Given the description of an element on the screen output the (x, y) to click on. 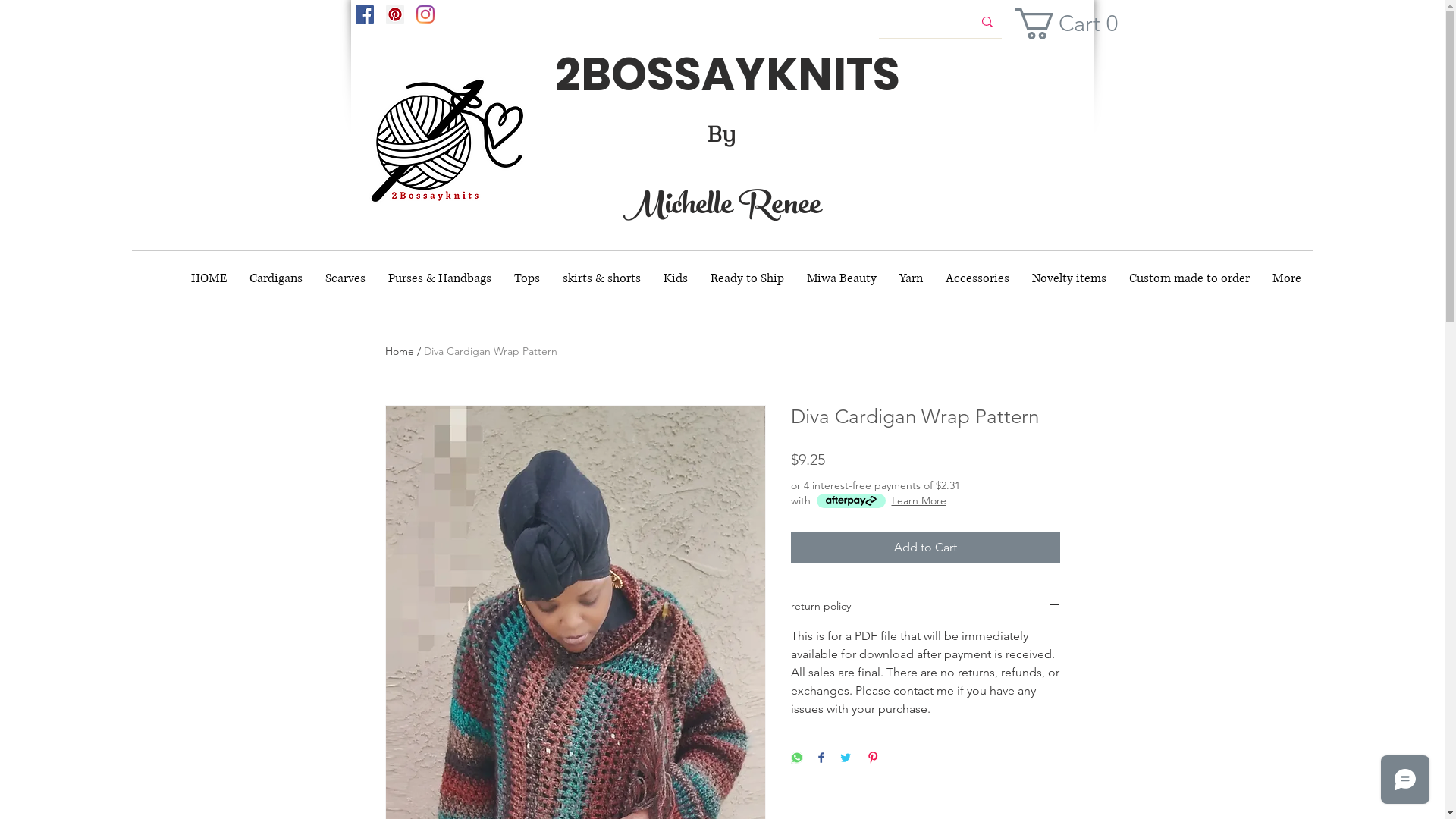
Accessories Element type: text (977, 278)
Scarves Element type: text (344, 278)
Home Element type: text (399, 350)
Novelty items Element type: text (1068, 278)
Ready to Ship Element type: text (747, 278)
Custom made to order Element type: text (1189, 278)
Learn More Element type: text (918, 500)
Tops Element type: text (526, 278)
HOME Element type: text (208, 278)
Cardigans Element type: text (275, 278)
Add to Cart Element type: text (924, 547)
Miwa Beauty Element type: text (841, 278)
Diva Cardigan Wrap Pattern Element type: text (489, 350)
Cart
0 Element type: text (1072, 23)
Purses & Handbags Element type: text (439, 278)
Kids Element type: text (675, 278)
Yarn Element type: text (911, 278)
return policy Element type: text (924, 607)
skirts & shorts Element type: text (601, 278)
